Given the description of an element on the screen output the (x, y) to click on. 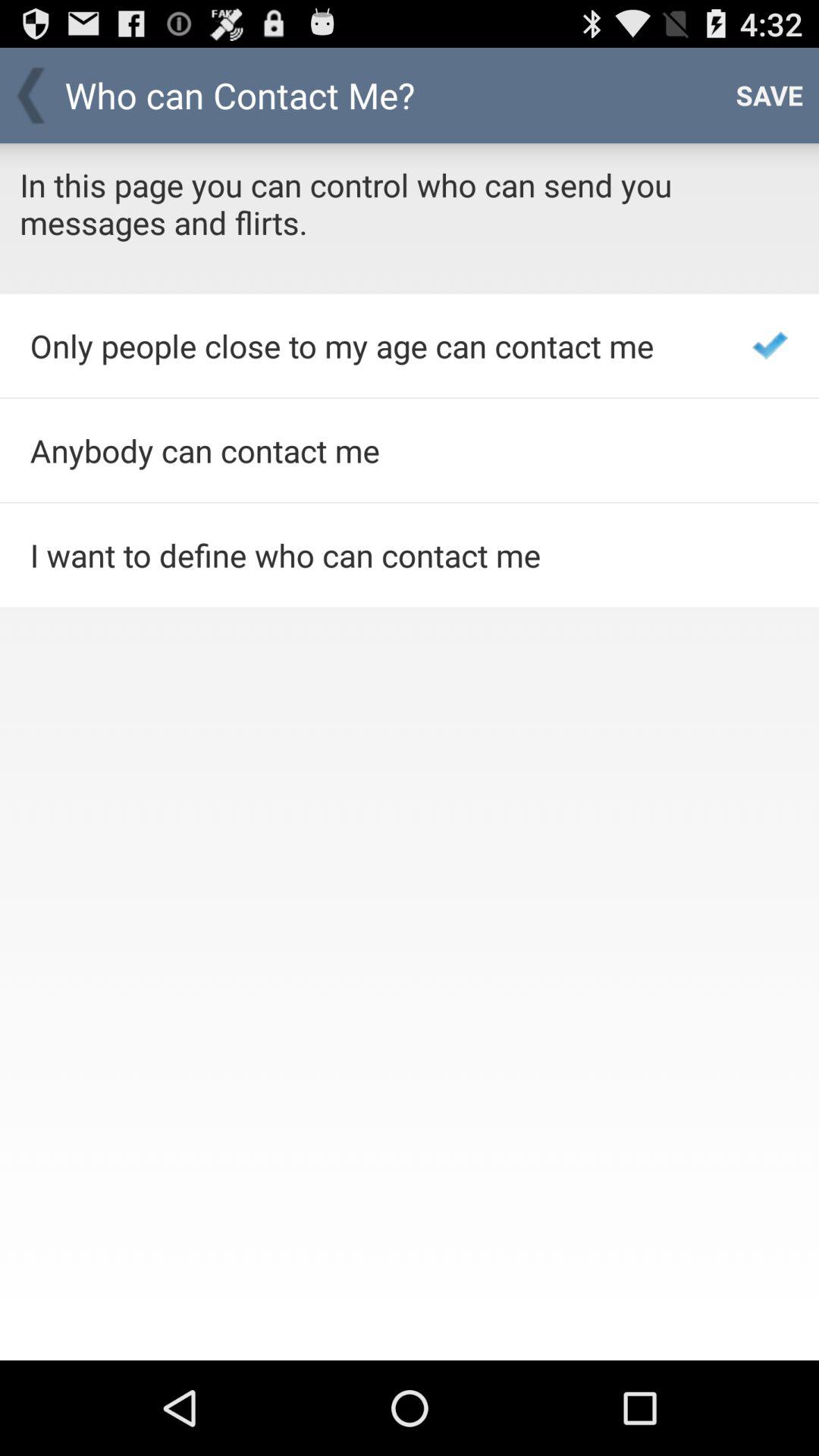
click only people close icon (371, 345)
